Given the description of an element on the screen output the (x, y) to click on. 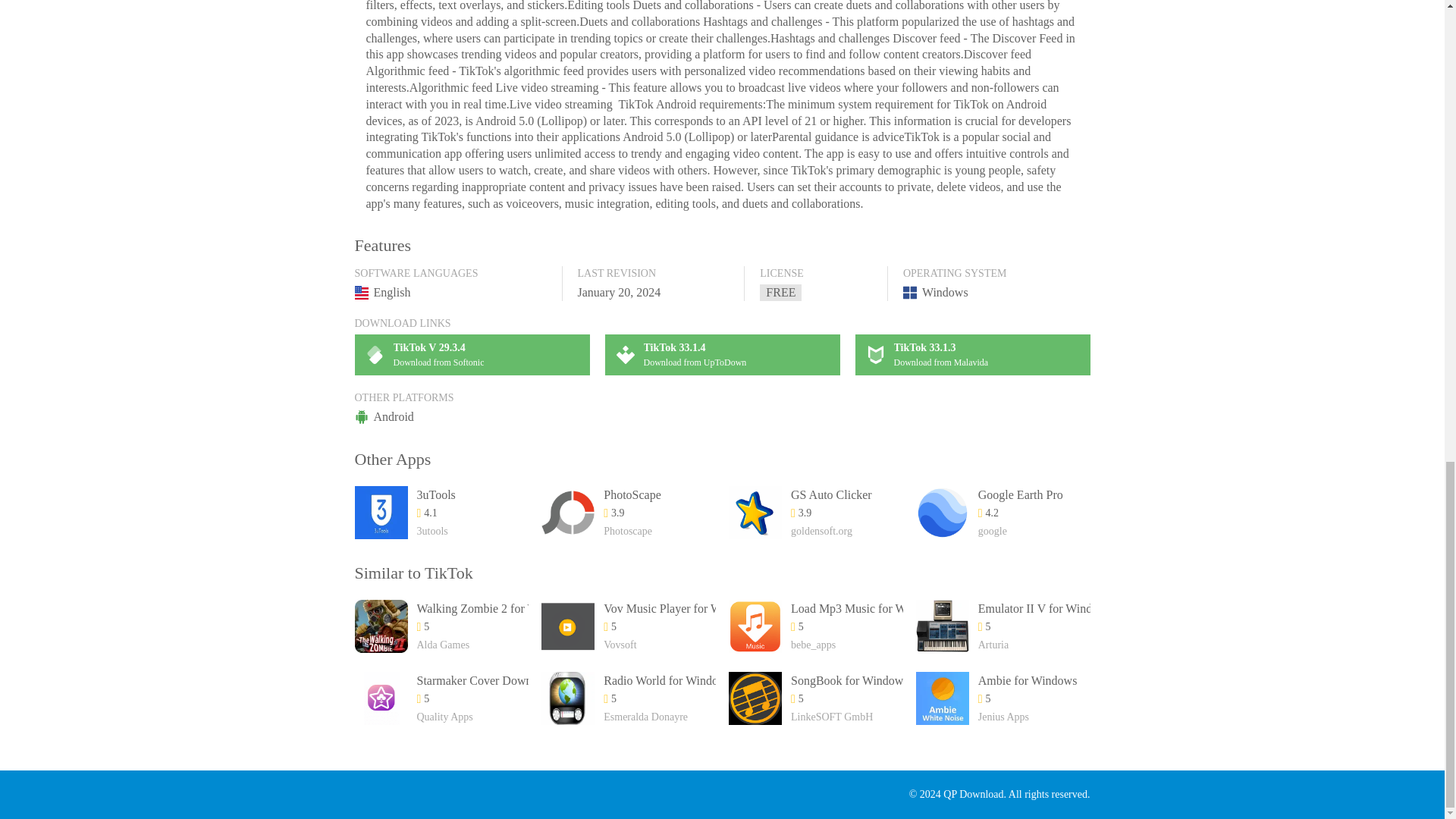
Android (384, 416)
Starmaker Cover Downloader for Windows (522, 680)
Emulator II V for Windows (1045, 608)
Vov Music Player for Windows (472, 354)
Walking Zombie 2 for Windows (722, 354)
SongBook for Windows Tablets (679, 608)
Load Mp3 Music for Windows (494, 608)
PhotoScape (973, 354)
GS Auto Clicker (867, 680)
Radio World for Windows (865, 608)
Google Earth Pro (632, 494)
3uTools (831, 494)
